Given the description of an element on the screen output the (x, y) to click on. 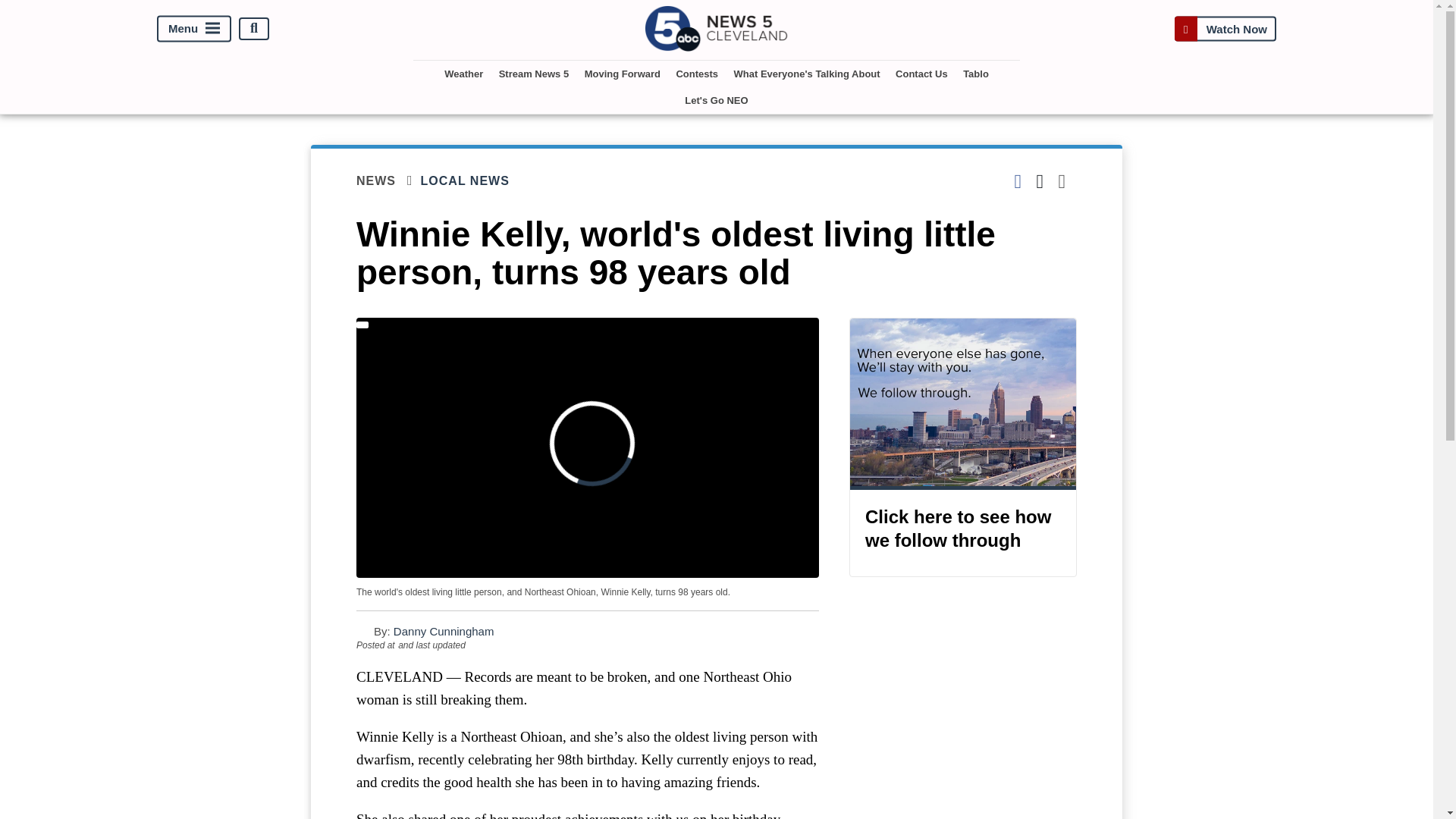
Menu (194, 28)
Watch Now (1224, 28)
